Given the description of an element on the screen output the (x, y) to click on. 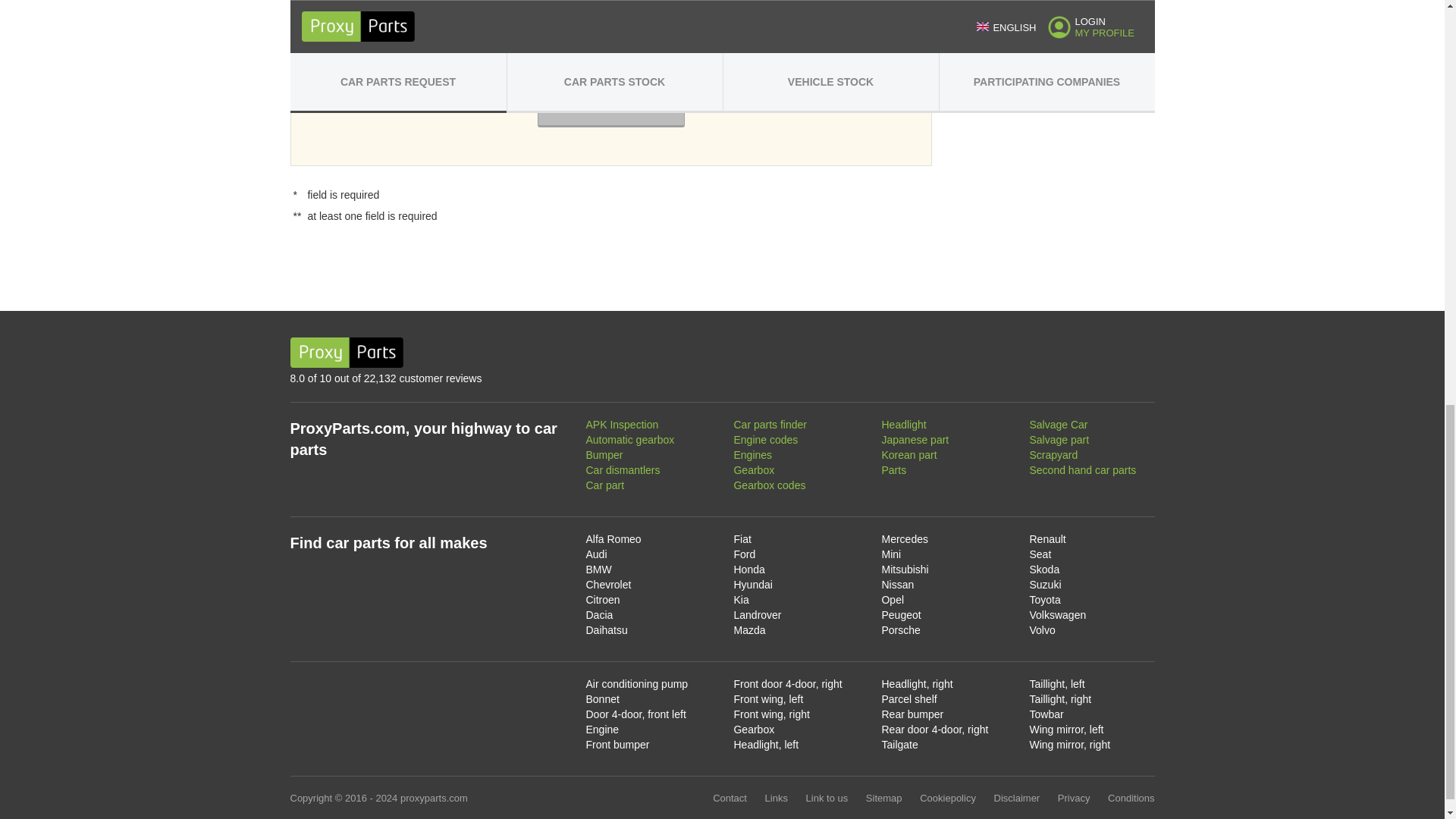
Car parts finder (769, 424)
Bumper (604, 454)
Follow us on Facebook (1131, 352)
Automatic gearbox (629, 439)
APK Inspection (621, 424)
8.0 of 10 out of 22,132 customer reviews (463, 378)
Car part (604, 485)
CONTINUE TO PARTS (610, 107)
Car dismantlers (622, 469)
